Given the description of an element on the screen output the (x, y) to click on. 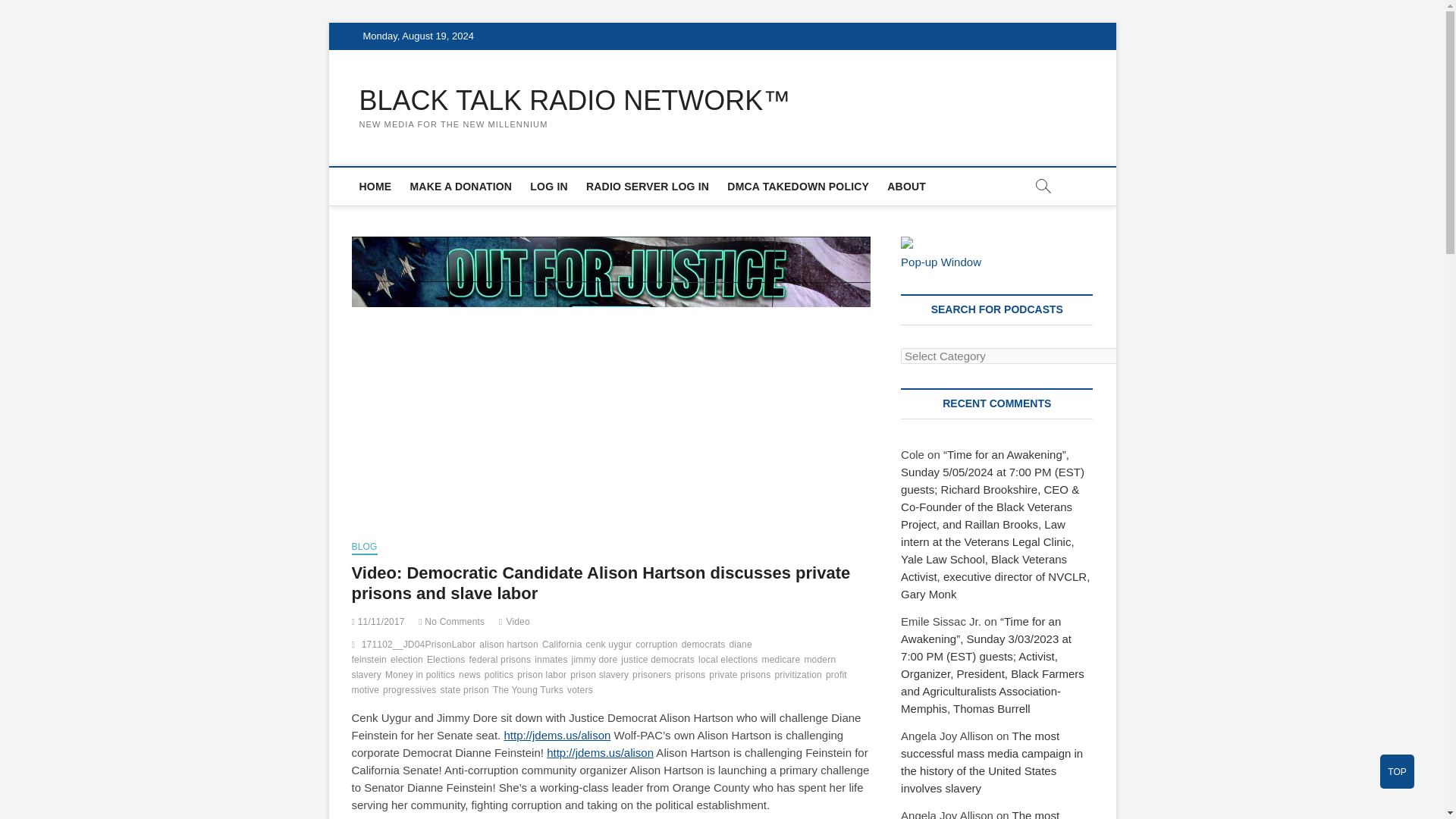
RADIO SERVER LOG IN (647, 186)
MAKE A DONATION (460, 186)
ABOUT (906, 186)
DMCA TAKEDOWN POLICY (797, 186)
Log In And Manage Your Digital Station (647, 186)
LOG IN (548, 186)
HOME (375, 186)
